Given the description of an element on the screen output the (x, y) to click on. 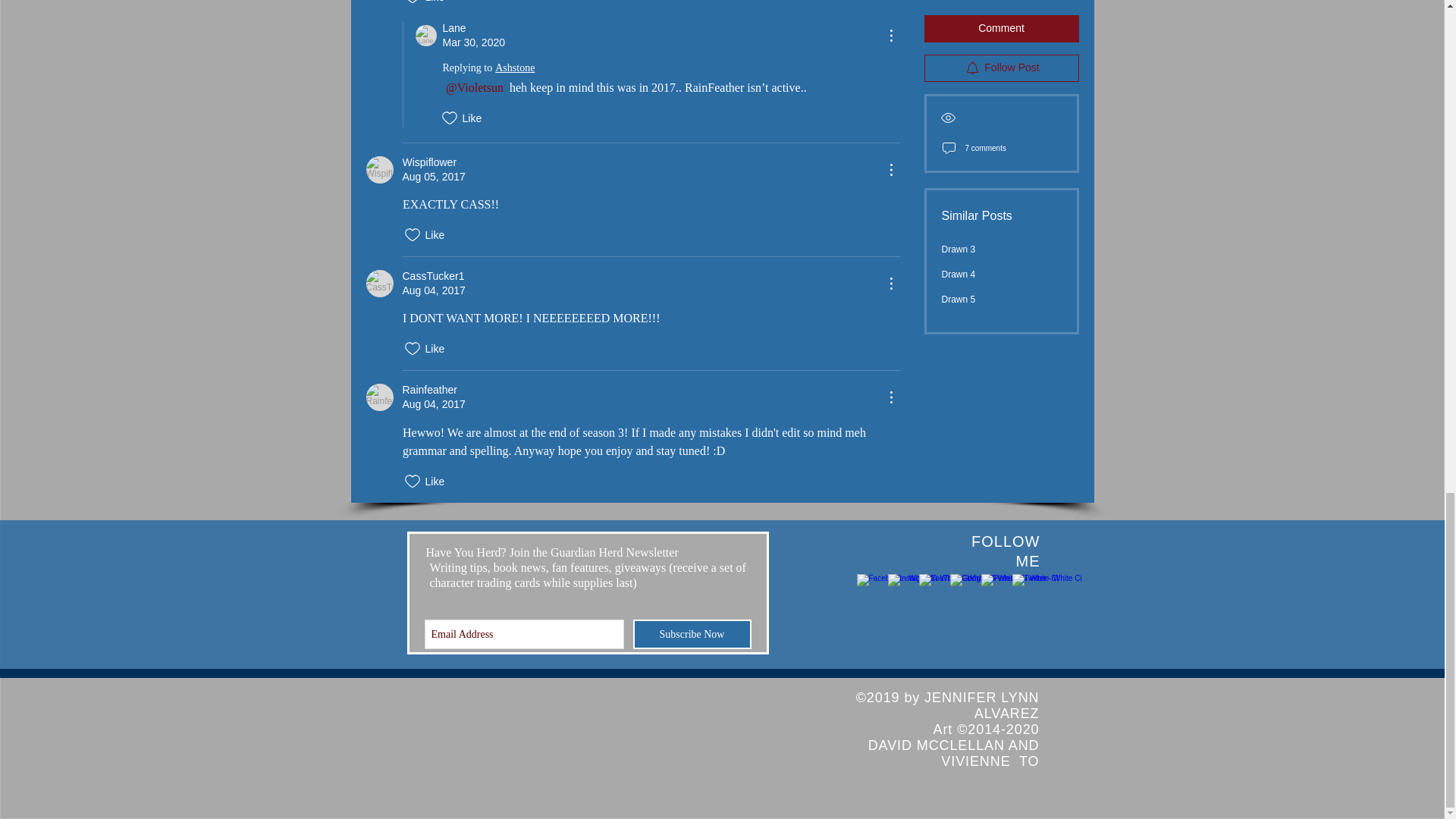
Lane (425, 35)
Rainfeather (379, 397)
CassTucker1 (379, 283)
Wispiflower  (379, 169)
